Given the description of an element on the screen output the (x, y) to click on. 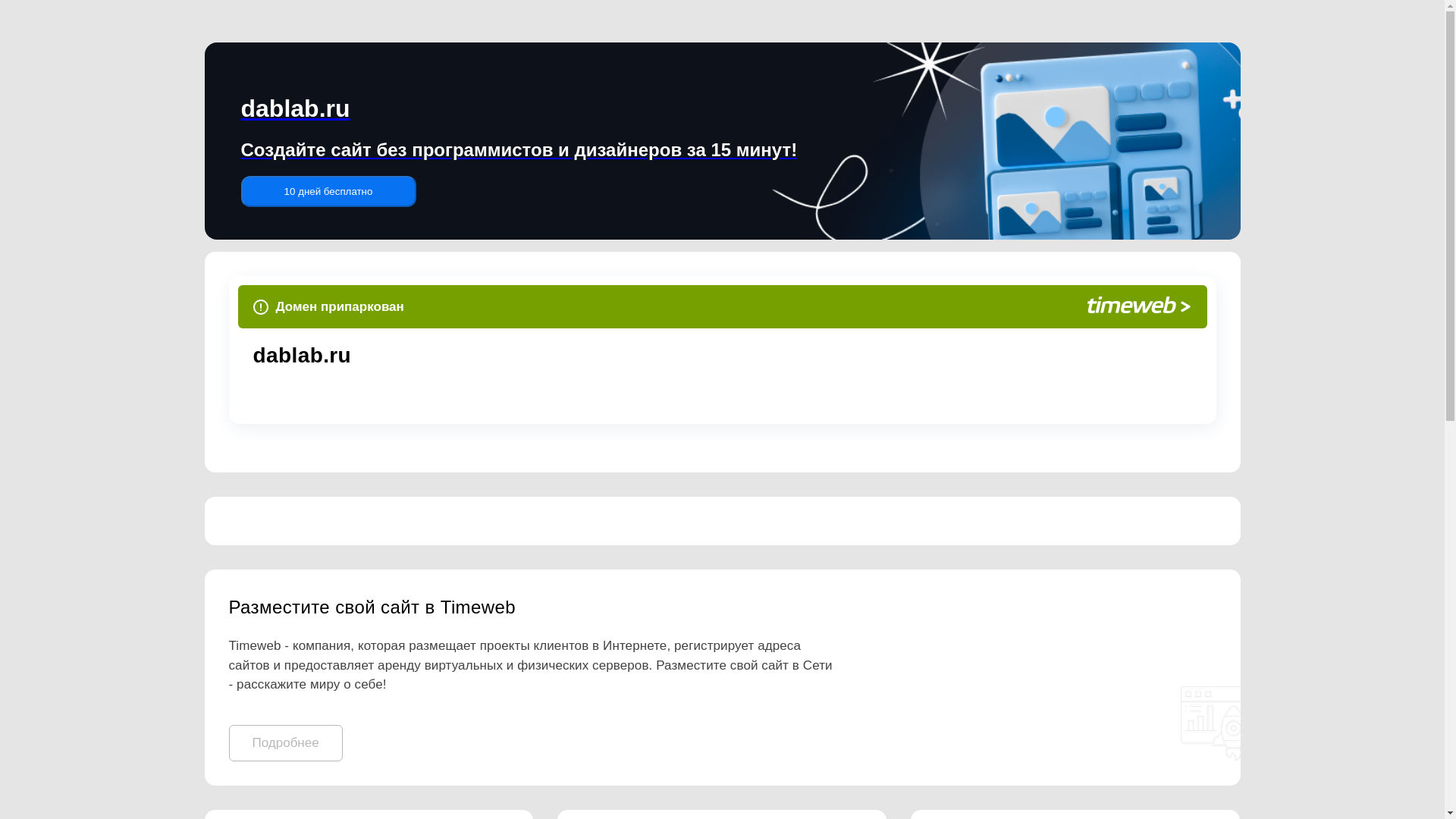
apt.ru (481, 355)
